Given the description of an element on the screen output the (x, y) to click on. 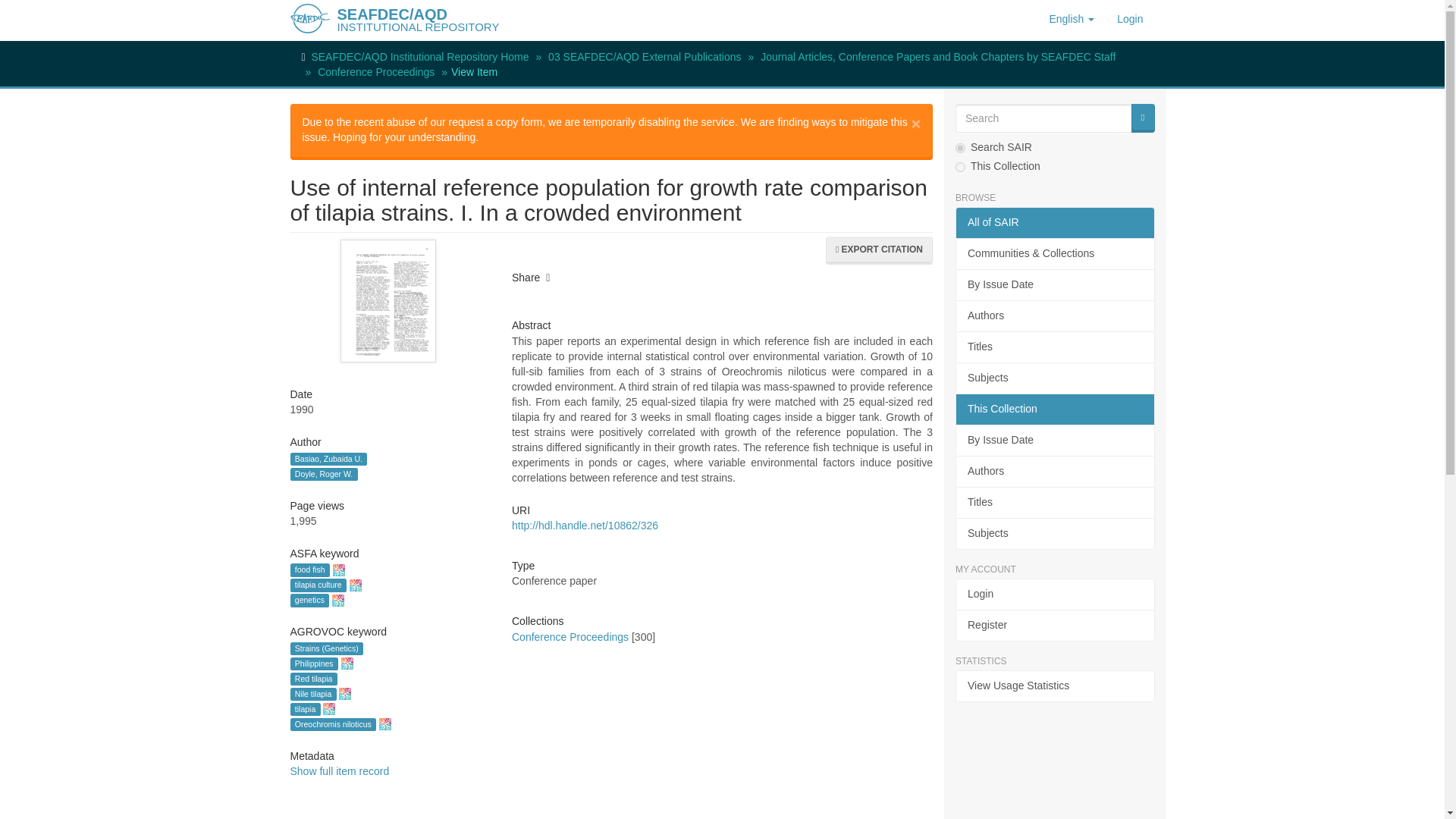
ASFA (355, 585)
Doyle, Roger W. (322, 473)
genetics (309, 599)
AGROVOC (346, 663)
Conference Proceedings (375, 71)
 EXPORT CITATION (879, 250)
ASFA (337, 600)
AGROVOC (328, 708)
Login (1129, 18)
AGROVOC (384, 724)
